Given the description of an element on the screen output the (x, y) to click on. 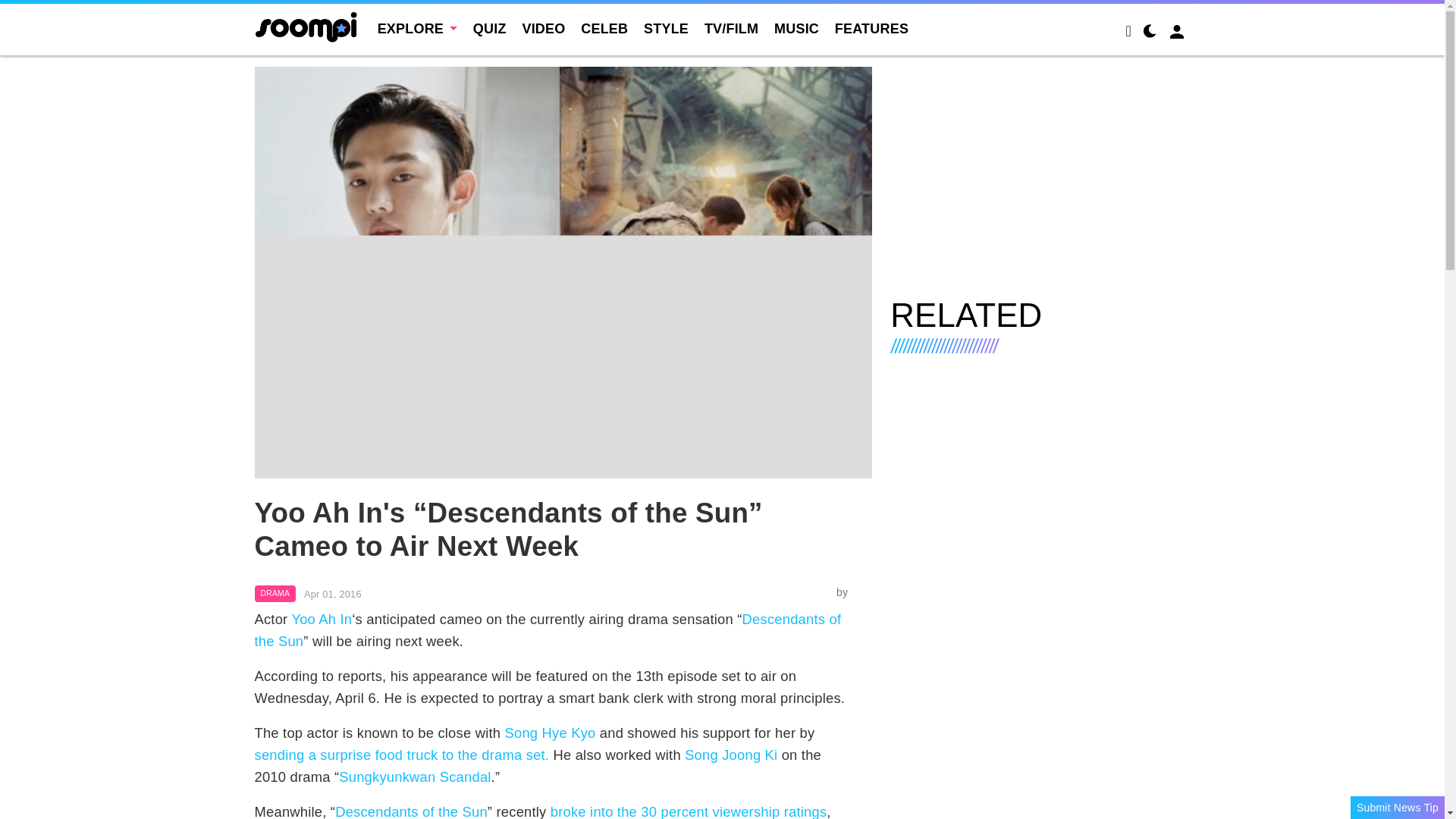
DRAMA (275, 593)
Descendants of the Sun (410, 811)
EXPLORE (417, 28)
sending a surprise food truck to the drama set. (402, 754)
FEATURES (871, 28)
VIDEO (542, 28)
Song Joong Ki (730, 754)
Descendants of the Sun (547, 629)
Yoo Ah In (321, 618)
CELEB (603, 28)
